Given the description of an element on the screen output the (x, y) to click on. 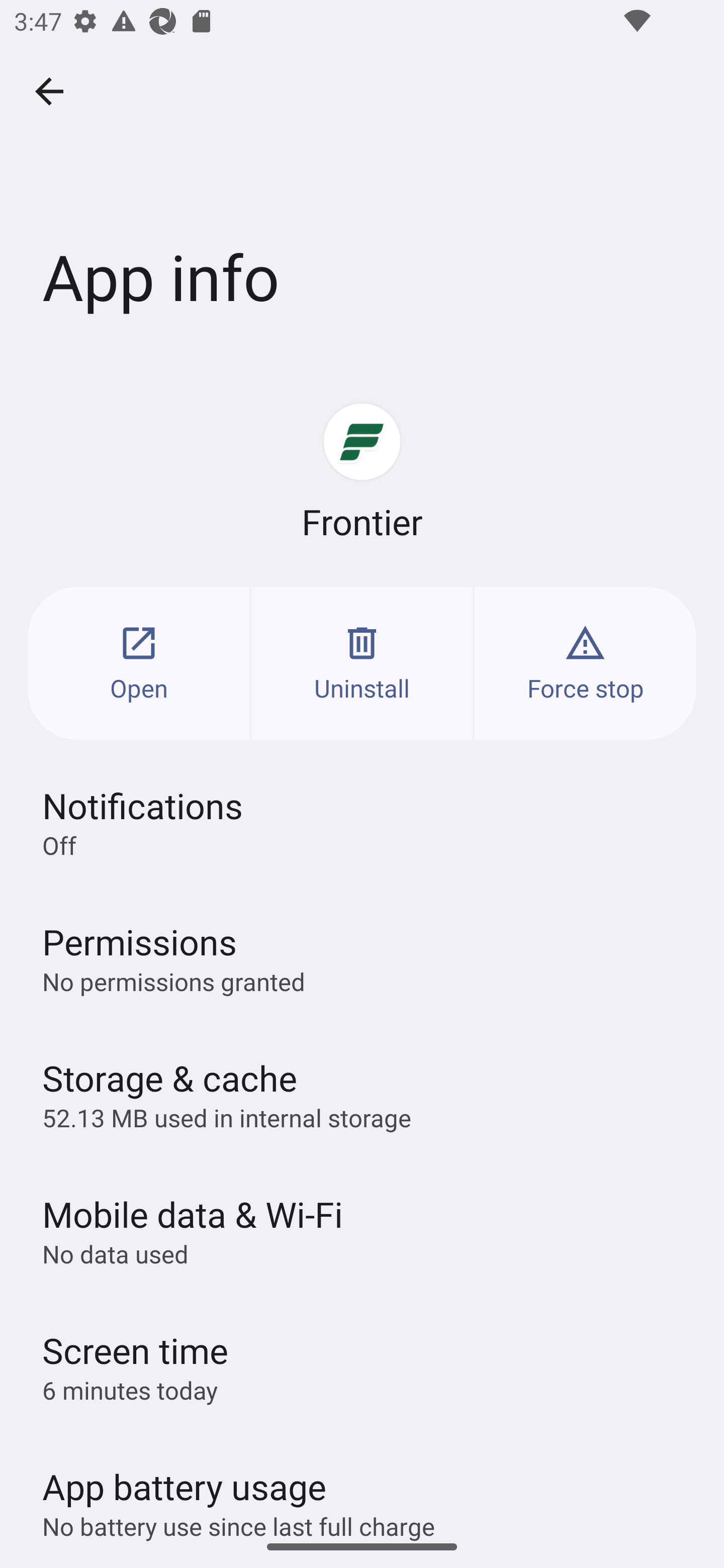
Navigate up (49, 91)
Open (138, 663)
Uninstall (361, 663)
Force stop (584, 663)
Notifications Off (362, 822)
Permissions No permissions granted (362, 957)
Storage & cache 52.13 MB used in internal storage (362, 1093)
Mobile data & Wi‑Fi No data used (362, 1229)
Screen time 6 minutes today (362, 1366)
